Given the description of an element on the screen output the (x, y) to click on. 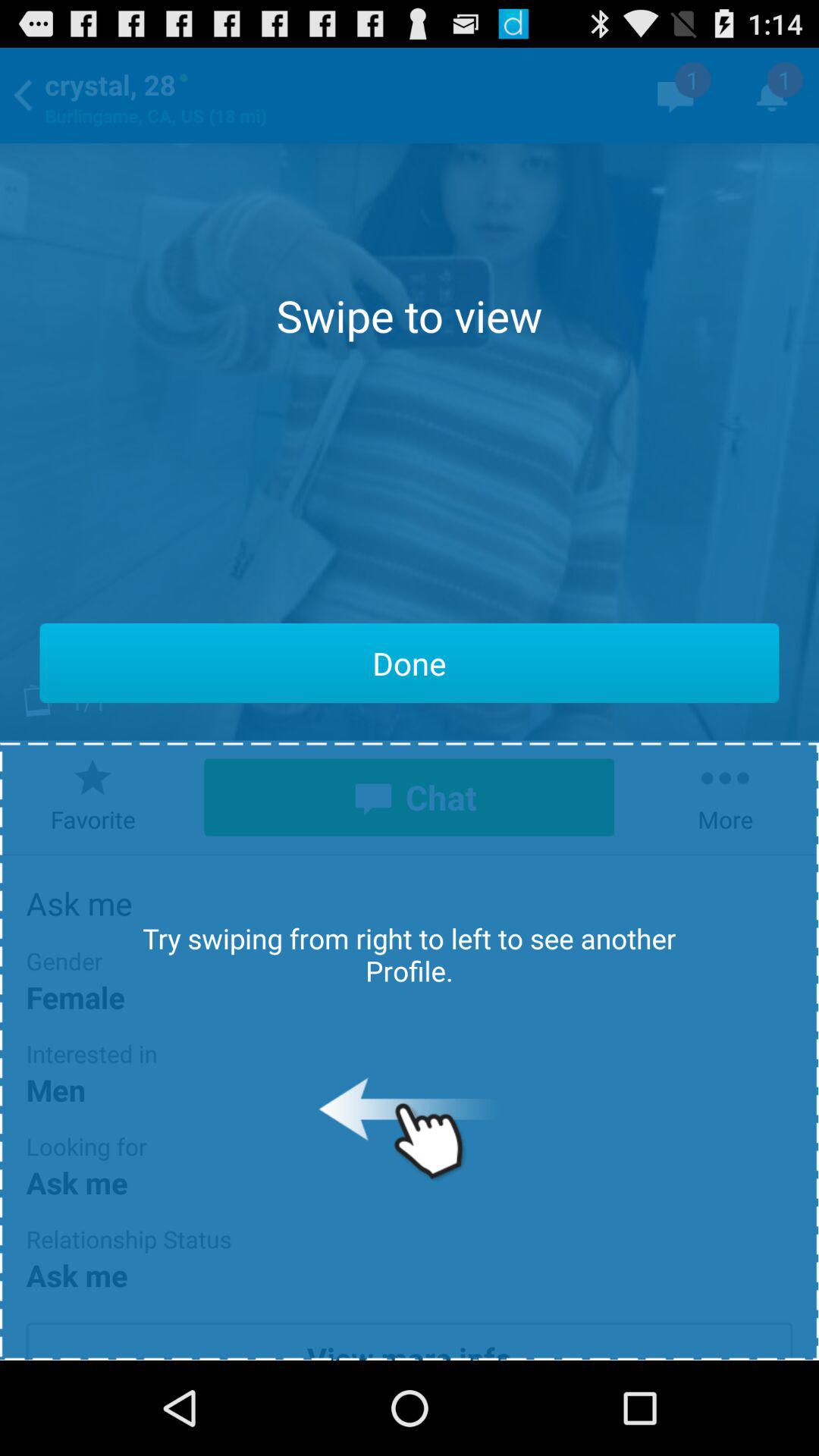
click the item above try swiping from item (409, 662)
